Given the description of an element on the screen output the (x, y) to click on. 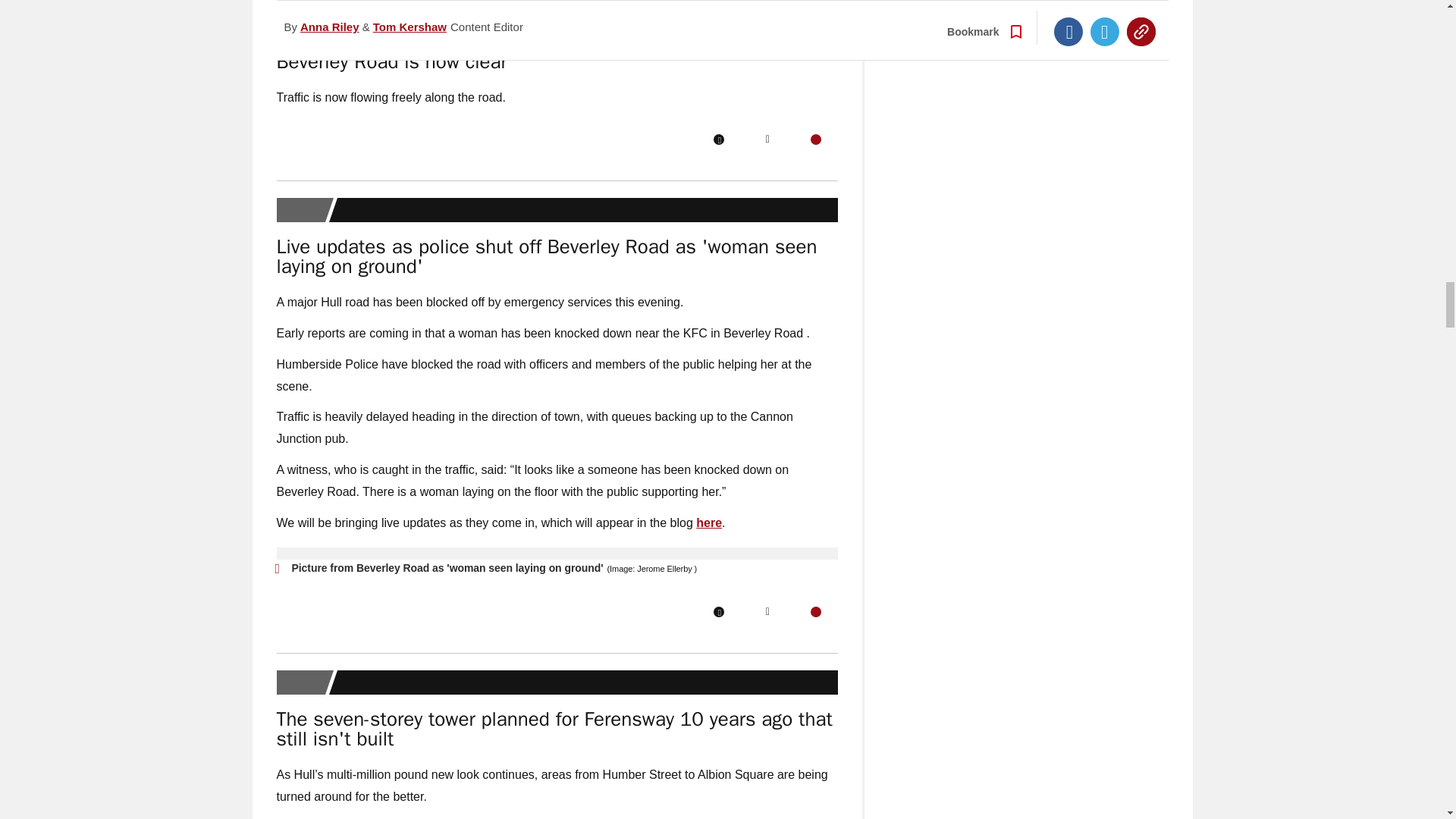
Facebook (718, 611)
Facebook (718, 139)
Twitter (767, 139)
